Given the description of an element on the screen output the (x, y) to click on. 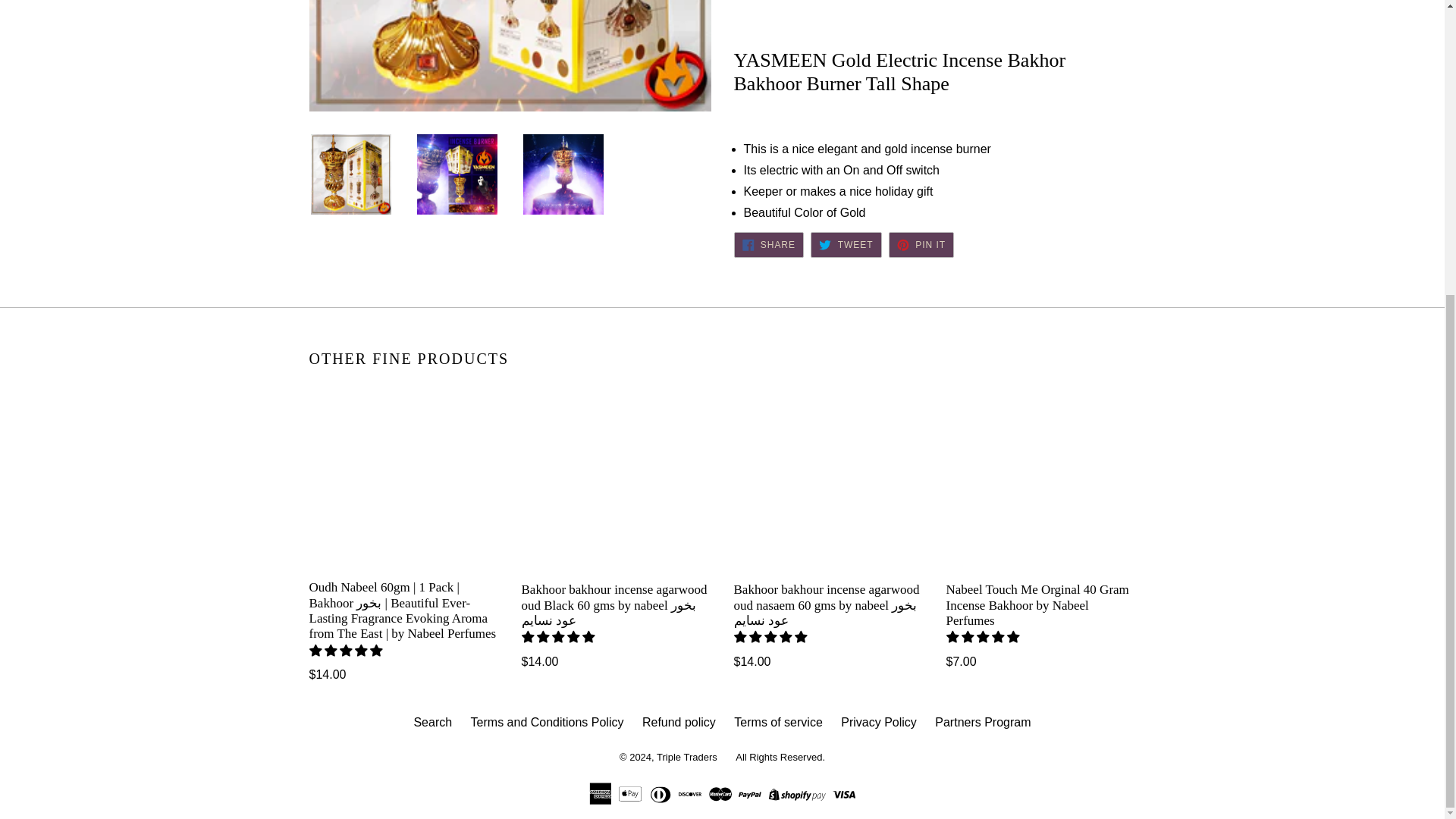
Tweet on Twitter (845, 244)
Share on Facebook (768, 244)
Pin on Pinterest (920, 244)
